Given the description of an element on the screen output the (x, y) to click on. 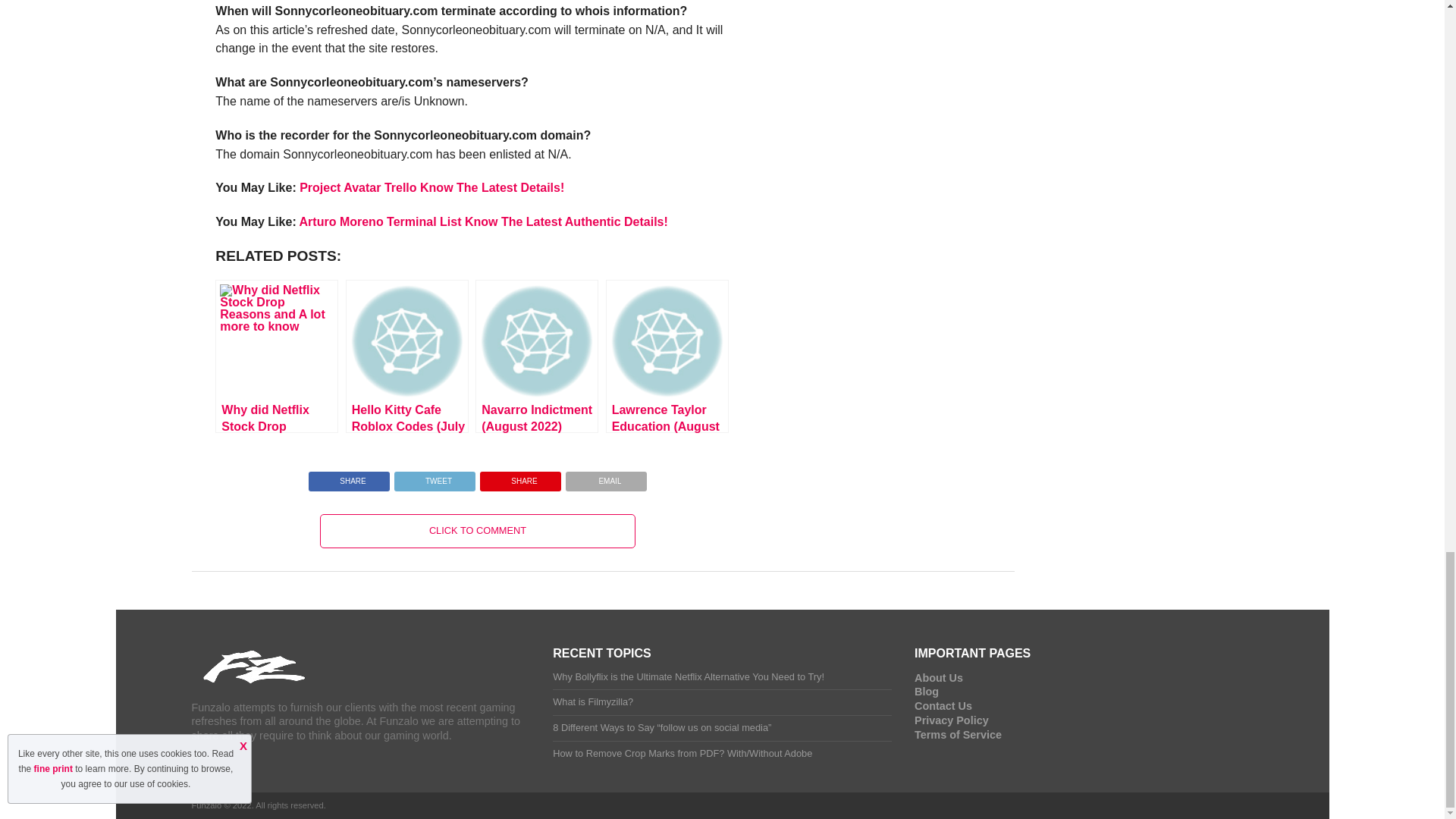
Share on Facebook (349, 477)
TWEET (434, 477)
Pin This Post (520, 477)
Tweet This Post (434, 477)
Project Avatar Trello Know The Latest Details! (431, 187)
SHARE (349, 477)
